Given the description of an element on the screen output the (x, y) to click on. 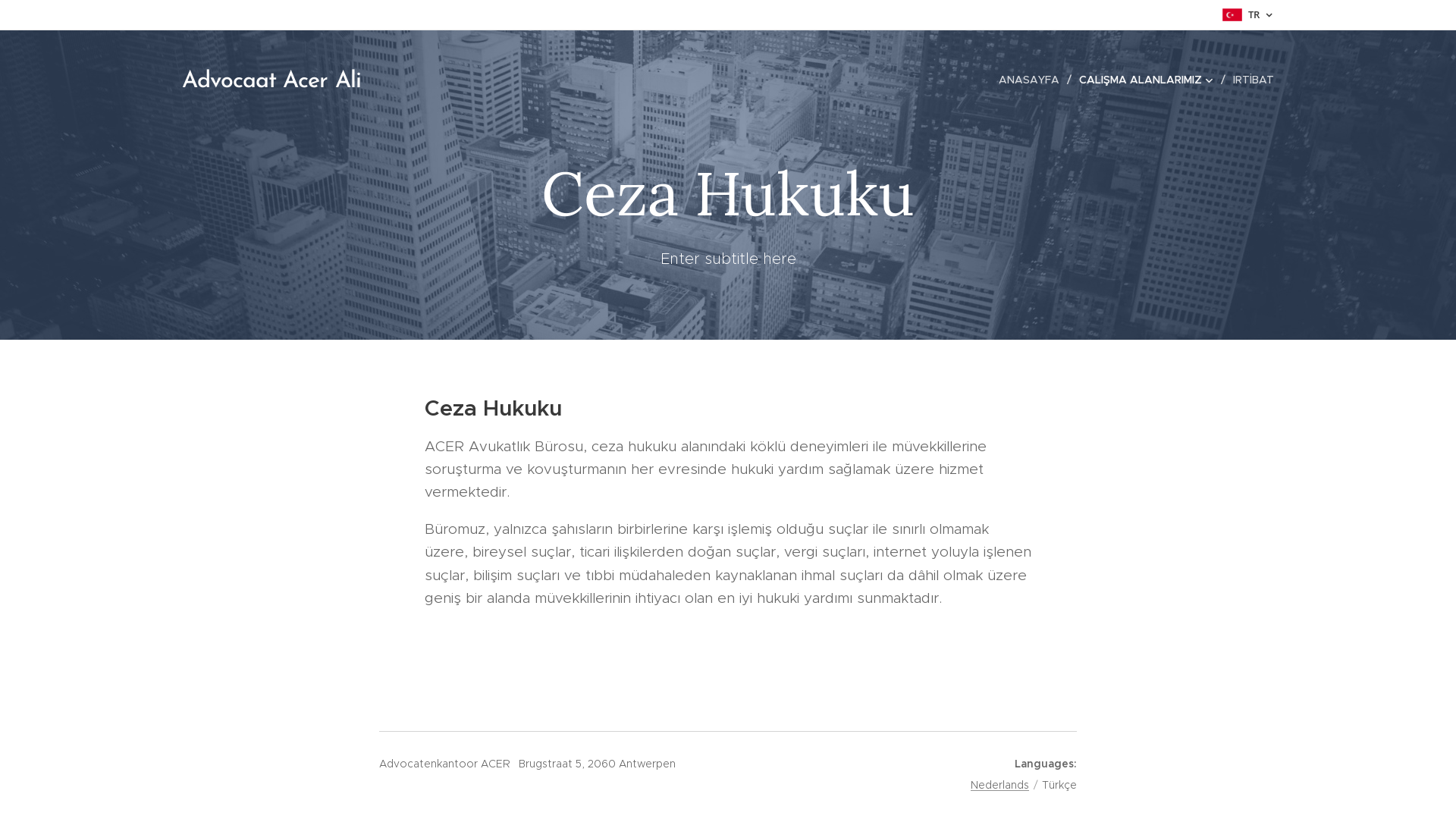
Advocaat Acer Ali Element type: text (270, 79)
ANASAYFA Element type: text (1032, 79)
IRTIBAT Element type: text (1249, 79)
Nederlands Element type: text (999, 784)
